Given the description of an element on the screen output the (x, y) to click on. 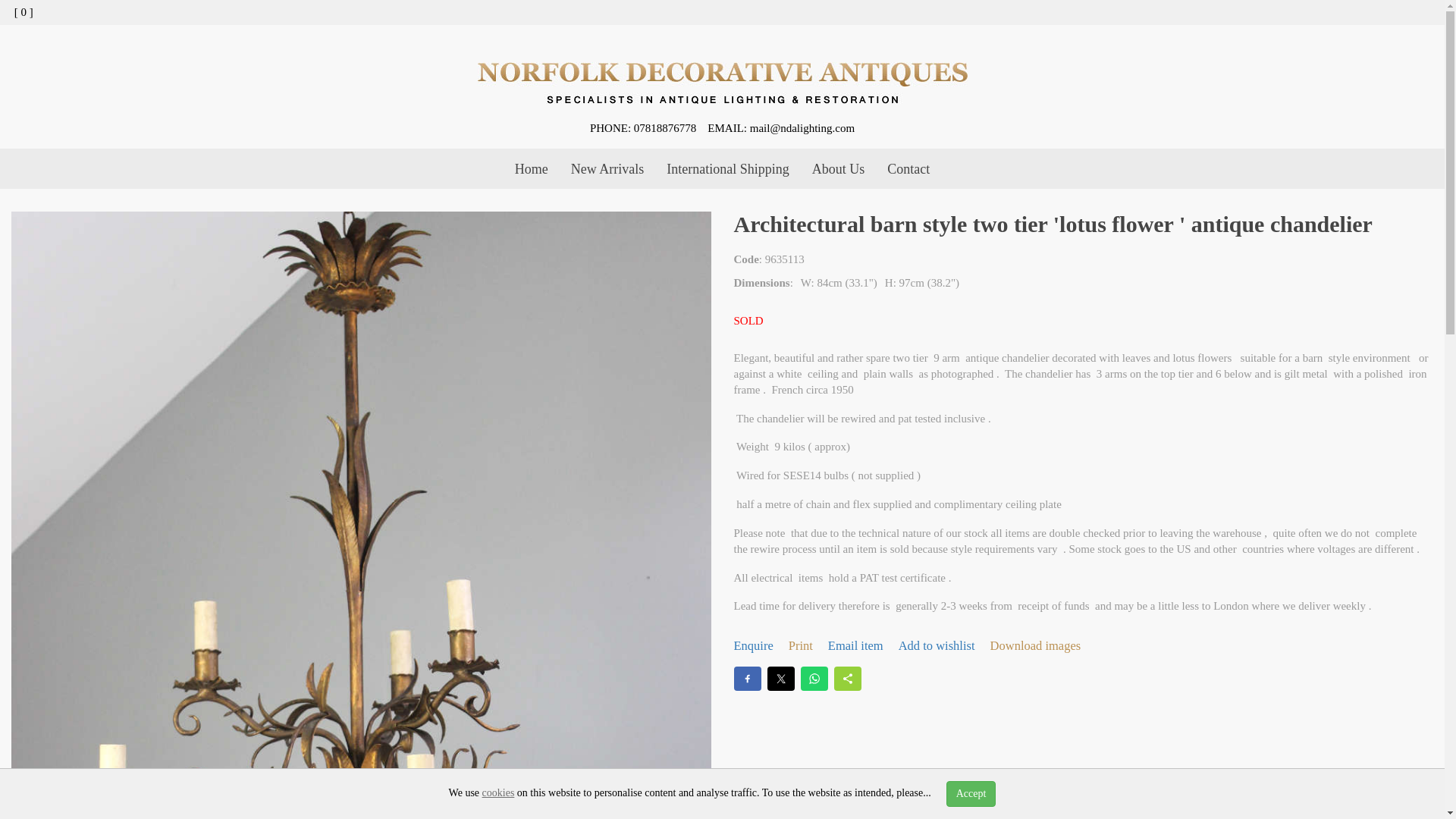
New Arrivals (607, 168)
Norfolk Decorative Antiques (722, 83)
Enquire (753, 646)
Download images (1035, 646)
Email item (855, 646)
International Shipping (727, 168)
Accept (970, 793)
Home (531, 168)
Add to wishlist (936, 646)
Contact (908, 168)
